Given the description of an element on the screen output the (x, y) to click on. 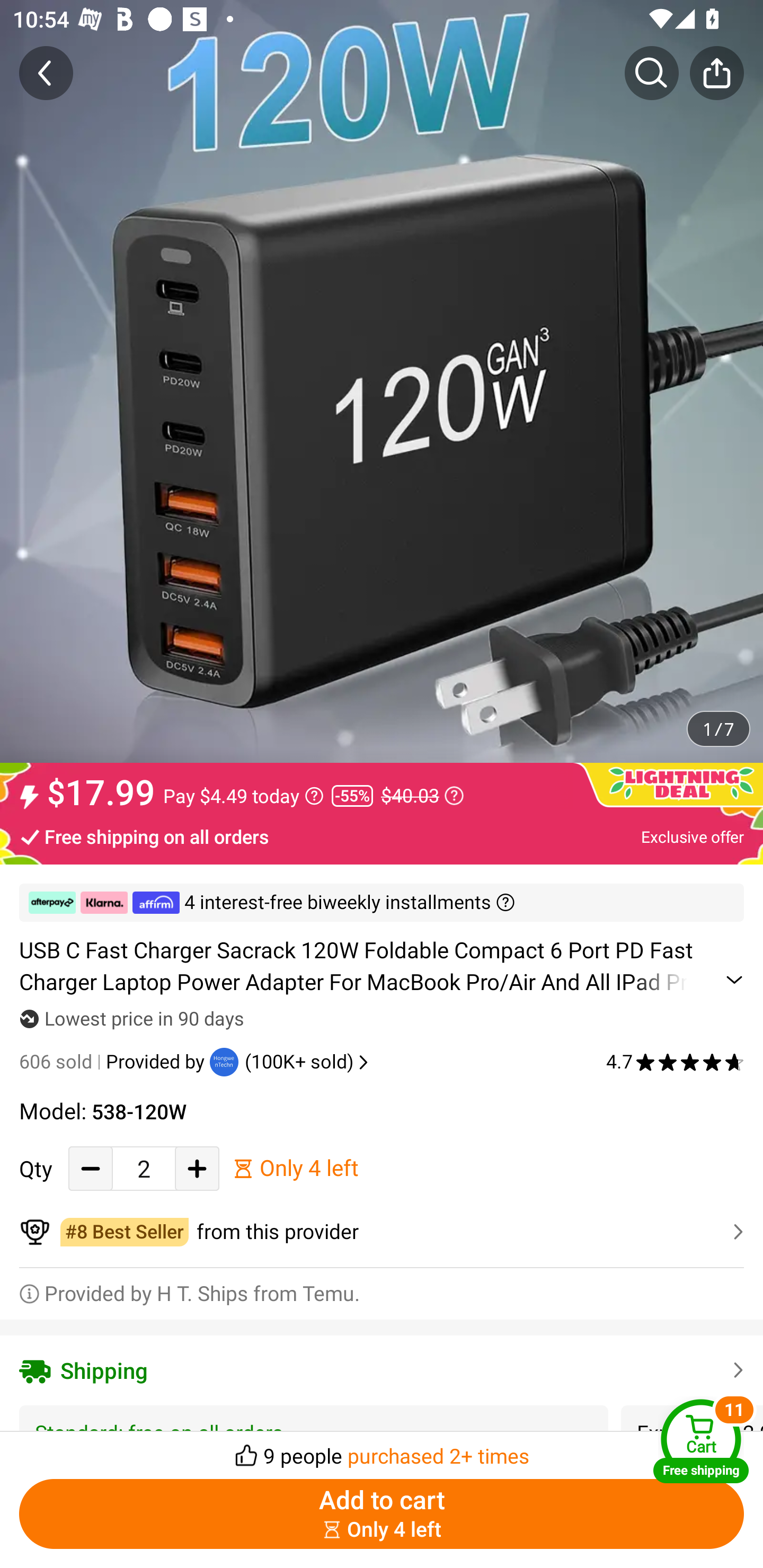
Back (46, 72)
Share (716, 72)
Pay $4.49 today   (243, 795)
Free shipping on all orders Exclusive offer (381, 836)
￼ ￼ ￼ 4 interest-free biweekly installments ￼ (381, 902)
606 sold Provided by  (114, 1061)
4.7 (674, 1061)
Decrease Quantity Button (90, 1168)
2 (143, 1168)
Add Quantity button (196, 1168)
￼￼from this provider (381, 1231)
Shipping (381, 1369)
Cart Free shipping Cart (701, 1440)
￼￼9 people purchased 2+ times (381, 1450)
Add to cart ￼￼Only 4 left (381, 1513)
